Given the description of an element on the screen output the (x, y) to click on. 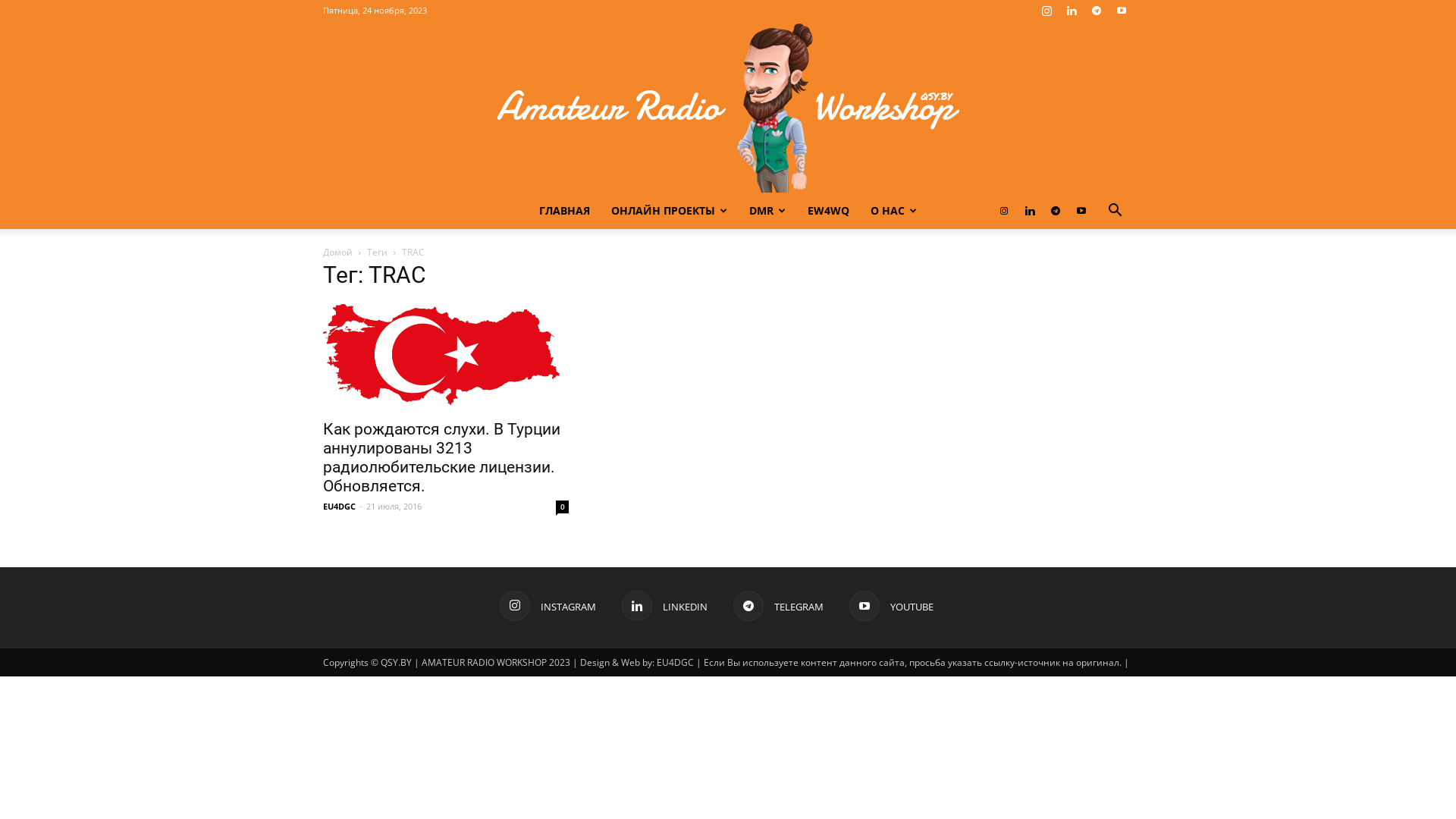
INSTAGRAM Element type: text (547, 605)
YOUTUBE Element type: text (891, 605)
Youtube Element type: hover (1081, 210)
DMR Element type: text (767, 210)
EW4WQ Element type: text (827, 210)
Linkedin Element type: hover (1071, 10)
Instagram Element type: hover (1046, 10)
Instagram Element type: hover (1003, 210)
Telegram Element type: hover (1096, 10)
0 Element type: text (561, 506)
Linkedin Element type: hover (1029, 210)
LINKEDIN Element type: text (664, 605)
TELEGRAM Element type: text (778, 605)
Youtube Element type: hover (1121, 10)
EU4DGC Element type: text (339, 505)
Telegram Element type: hover (1055, 210)
